Given the description of an element on the screen output the (x, y) to click on. 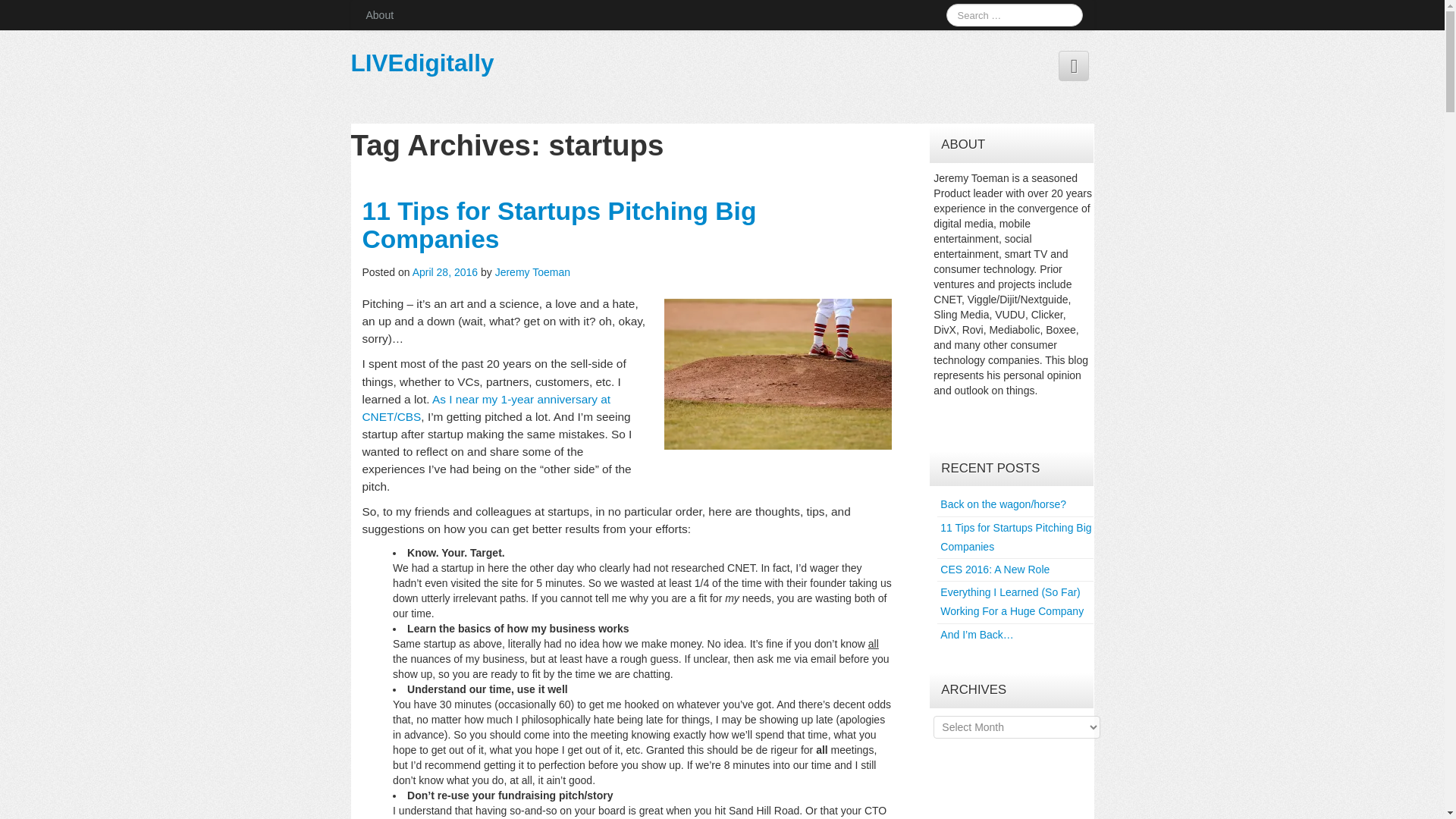
11 Tips for Startups Pitching Big Companies (559, 225)
Permalink to 11 Tips for Startups Pitching Big Companies (559, 225)
View all posts by Jeremy Toeman (532, 272)
LIVEdigitally (421, 62)
LIVEdigitally (421, 62)
About (379, 15)
LIVEdigitally Twitter (1073, 65)
12:30 pm (446, 272)
Jeremy Toeman (532, 272)
April 28, 2016 (446, 272)
